Given the description of an element on the screen output the (x, y) to click on. 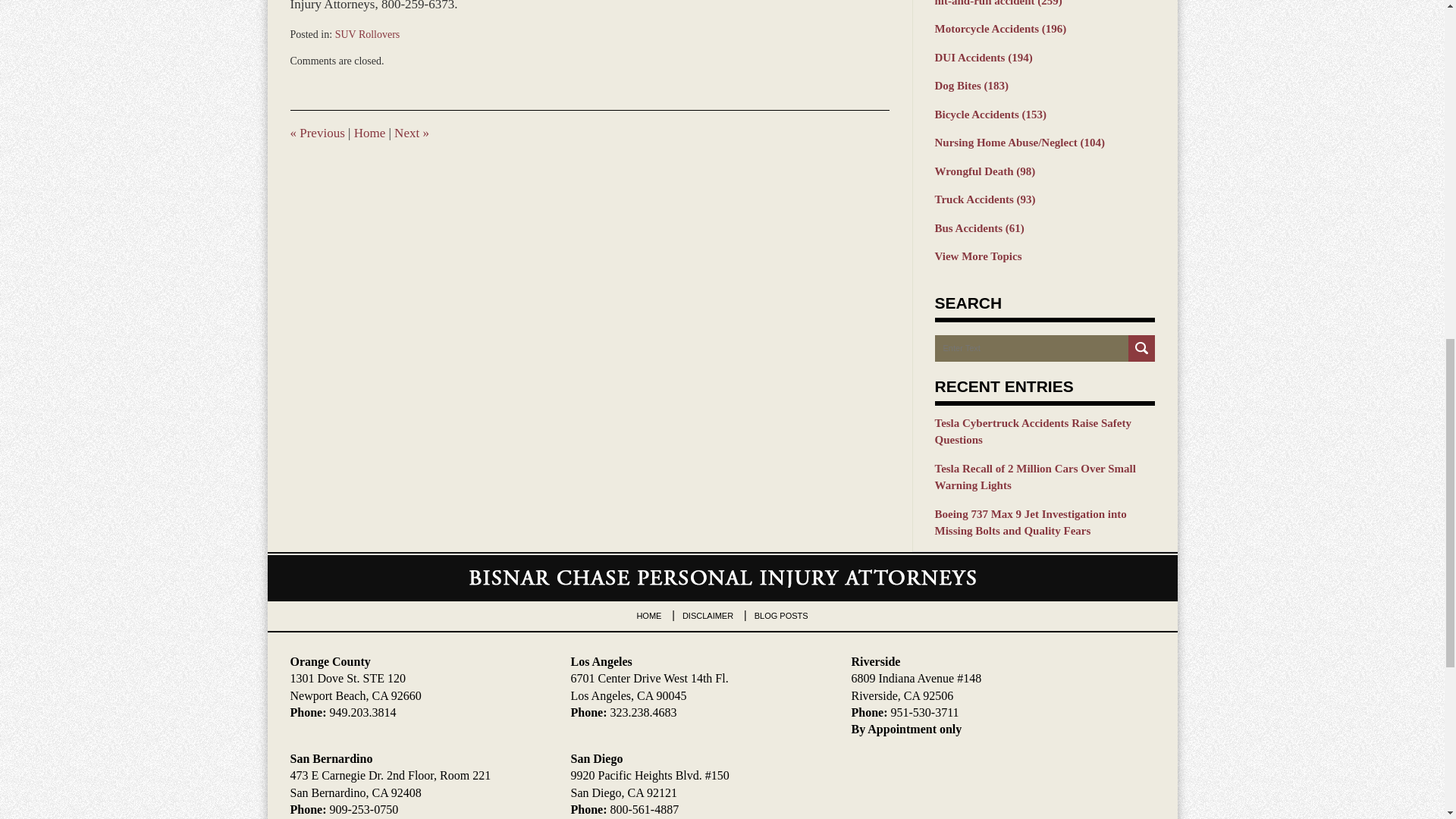
Home (369, 133)
Tesla Cybertruck Accidents Raise Safety Questions (1044, 431)
Fatal SUV Accident Leads to Another Lawsuit Against Ford (411, 133)
Tesla Recall of 2 Million Cars Over Small Warning Lights (1044, 477)
View all posts in SUV Rollovers (367, 34)
SEARCH (1141, 347)
SUV Rollovers (367, 34)
View More Topics (1044, 256)
